Given the description of an element on the screen output the (x, y) to click on. 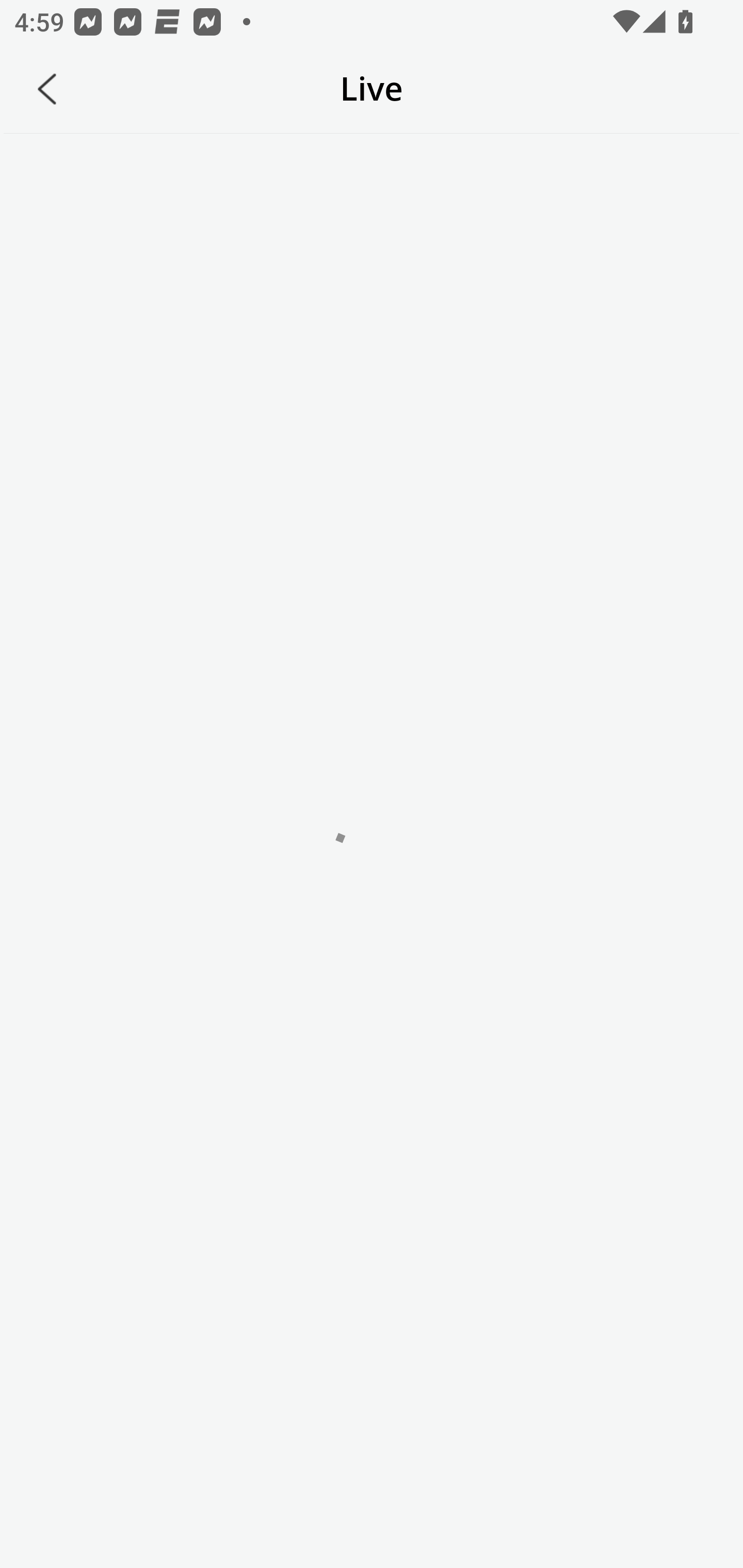
Back (46, 88)
